Given the description of an element on the screen output the (x, y) to click on. 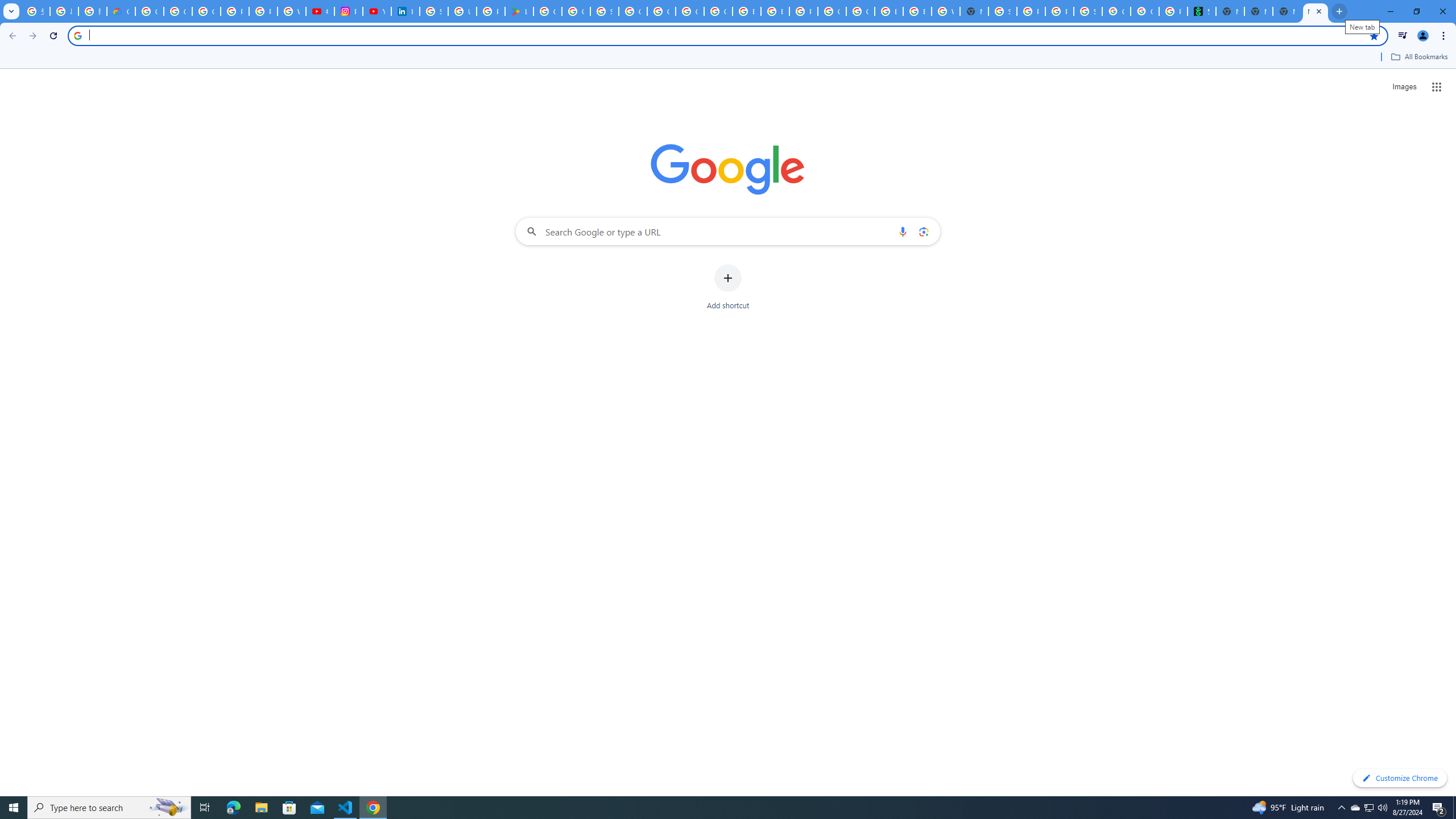
Last Shelter: Survival - Apps on Google Play (518, 11)
Browse Chrome as a guest - Computer - Google Chrome Help (888, 11)
New Tab (1315, 11)
Sign in - Google Accounts (1002, 11)
